Given the description of an element on the screen output the (x, y) to click on. 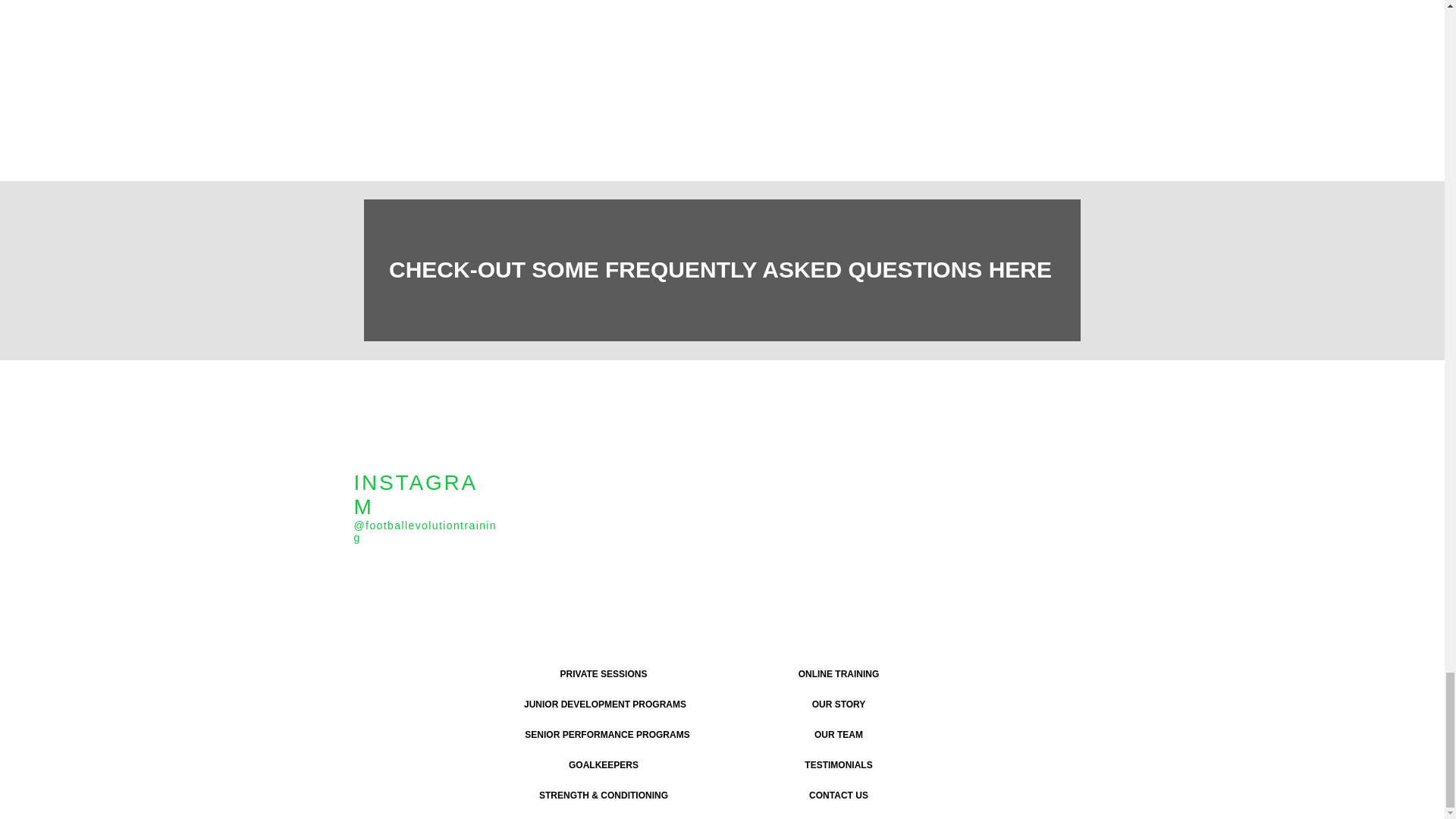
GOALKEEPERS (602, 766)
CHECK-OUT SOME FREQUENTLY ASKED QUESTIONS HERE (722, 270)
SENIOR PERFORMANCE PROGRAMS (606, 735)
JUNIOR DEVELOPMENT PROGRAMS (603, 705)
TESTIMONIALS (838, 766)
OUR TEAM (838, 735)
PRIVATE SESSIONS (602, 675)
OUR STORY (838, 705)
CONTACT US (838, 796)
ONLINE TRAINING (838, 675)
